Given the description of an element on the screen output the (x, y) to click on. 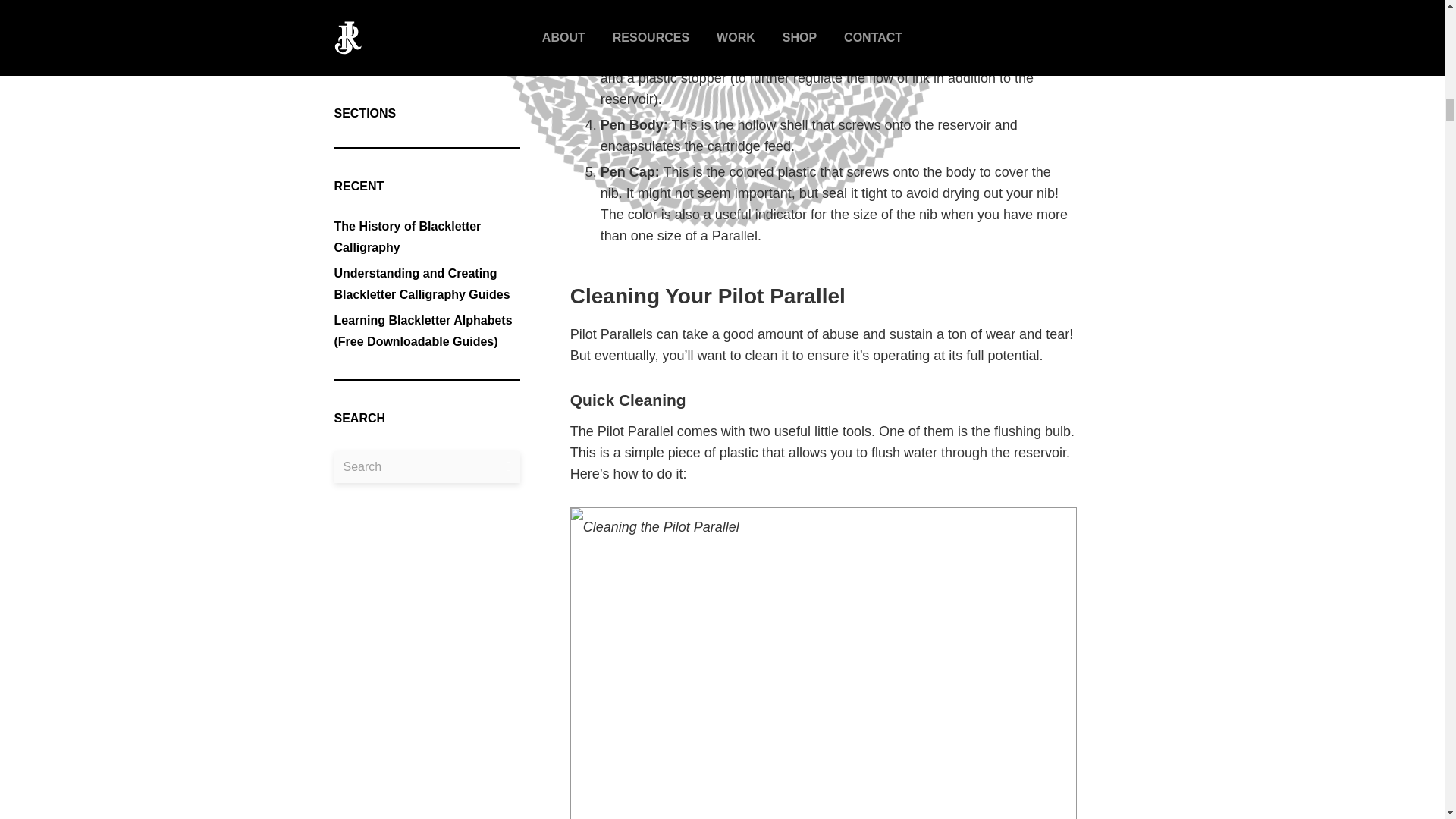
cleaning section (648, 9)
